Given the description of an element on the screen output the (x, y) to click on. 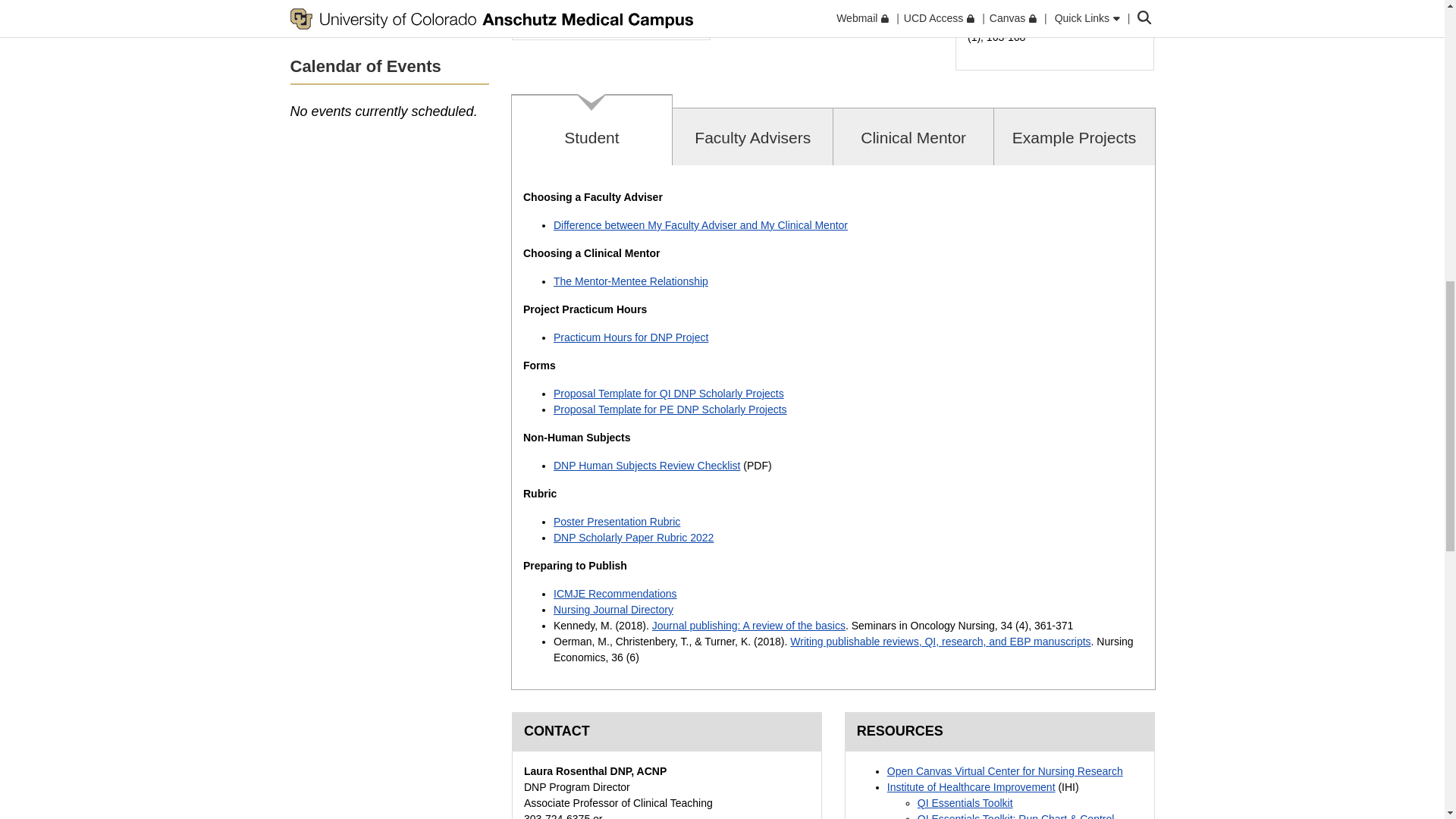
ICMJE Recommendations (615, 593)
Proposal Template for QI DNP Scholarly Projects (668, 393)
Proposal Template for PE DNP Scholarly Projects (670, 409)
Practicum Hours for DNP Project (630, 337)
Difference between My Faculty Adviser and My Clinical Mentor (700, 224)
DNP Human Subjects Review Checklist (646, 465)
